Given the description of an element on the screen output the (x, y) to click on. 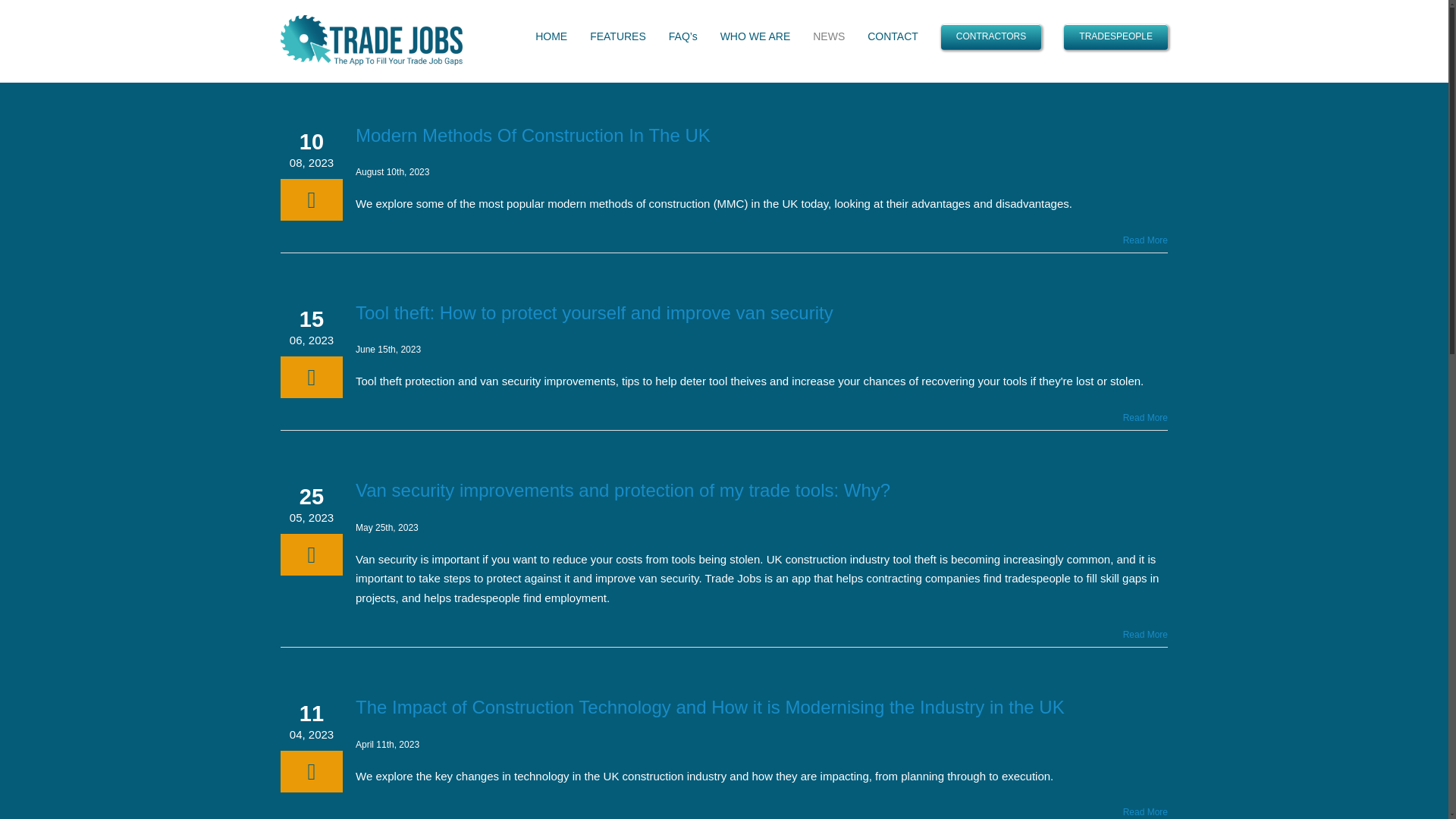
CONTACT (892, 36)
HOME (551, 36)
Read More (1144, 417)
Read More (1144, 634)
WHO WE ARE (755, 36)
Read More (1144, 811)
NEWS (828, 36)
FEATURES (617, 36)
Read More (1144, 240)
TRADESPEOPLE (1115, 36)
Modern Methods Of Construction In The UK (532, 135)
Tool theft: How to protect yourself and improve van security (593, 312)
Home (1126, 40)
